Given the description of an element on the screen output the (x, y) to click on. 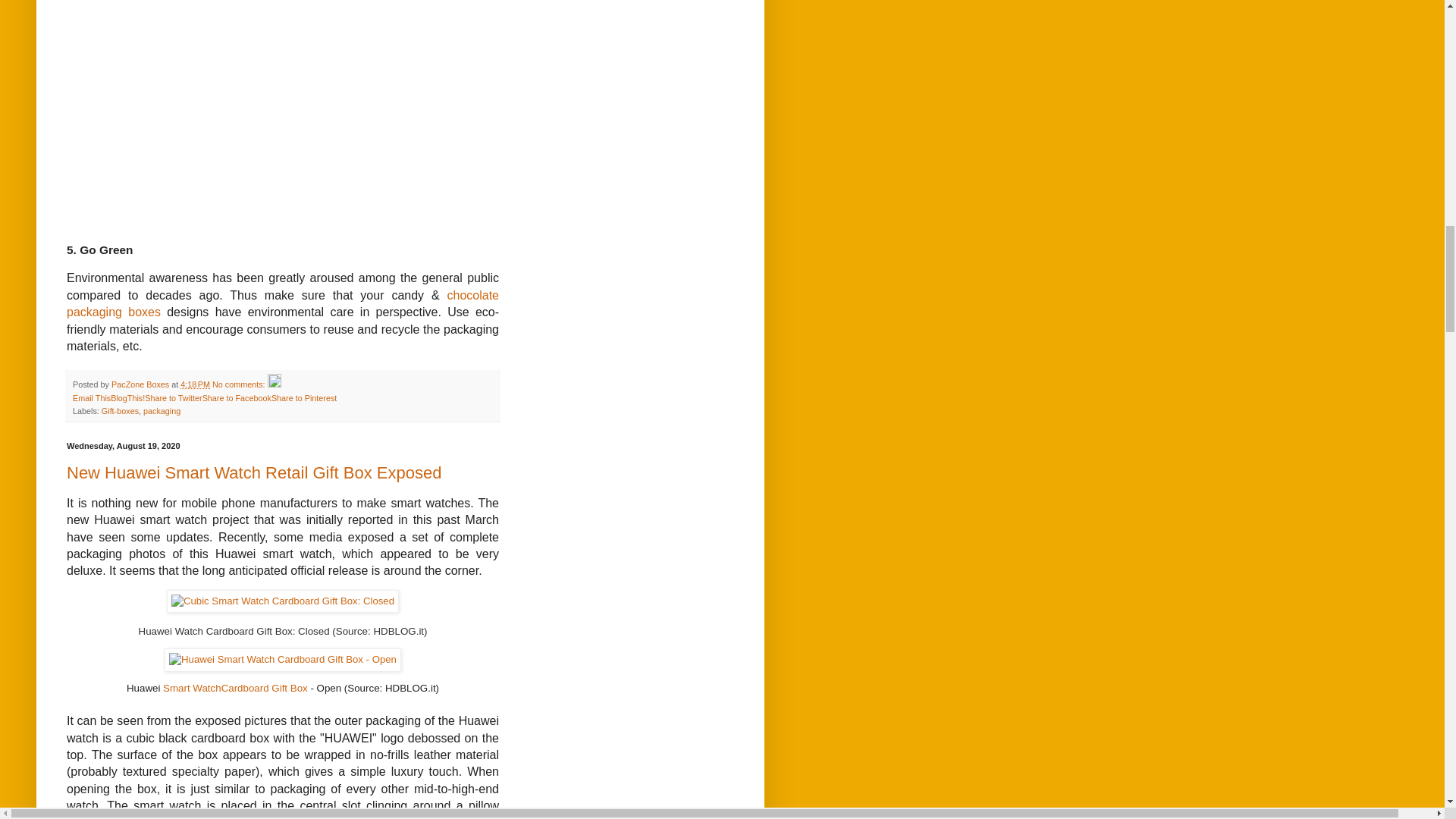
Edit Post (274, 384)
New Huawei Smart Watch Retail Gift Box Exposed (253, 472)
BlogThis! (127, 397)
Share to Facebook (236, 397)
Gift-boxes (119, 410)
chocolate packaging boxes (282, 303)
packaging (161, 410)
PacZone Boxes (141, 384)
BlogThis! (127, 397)
No comments: (239, 384)
Email This (91, 397)
Huawei Smart Watch Cardboard Gift Box - Open (282, 659)
author profile (141, 384)
Share to Twitter (173, 397)
